Given the description of an element on the screen output the (x, y) to click on. 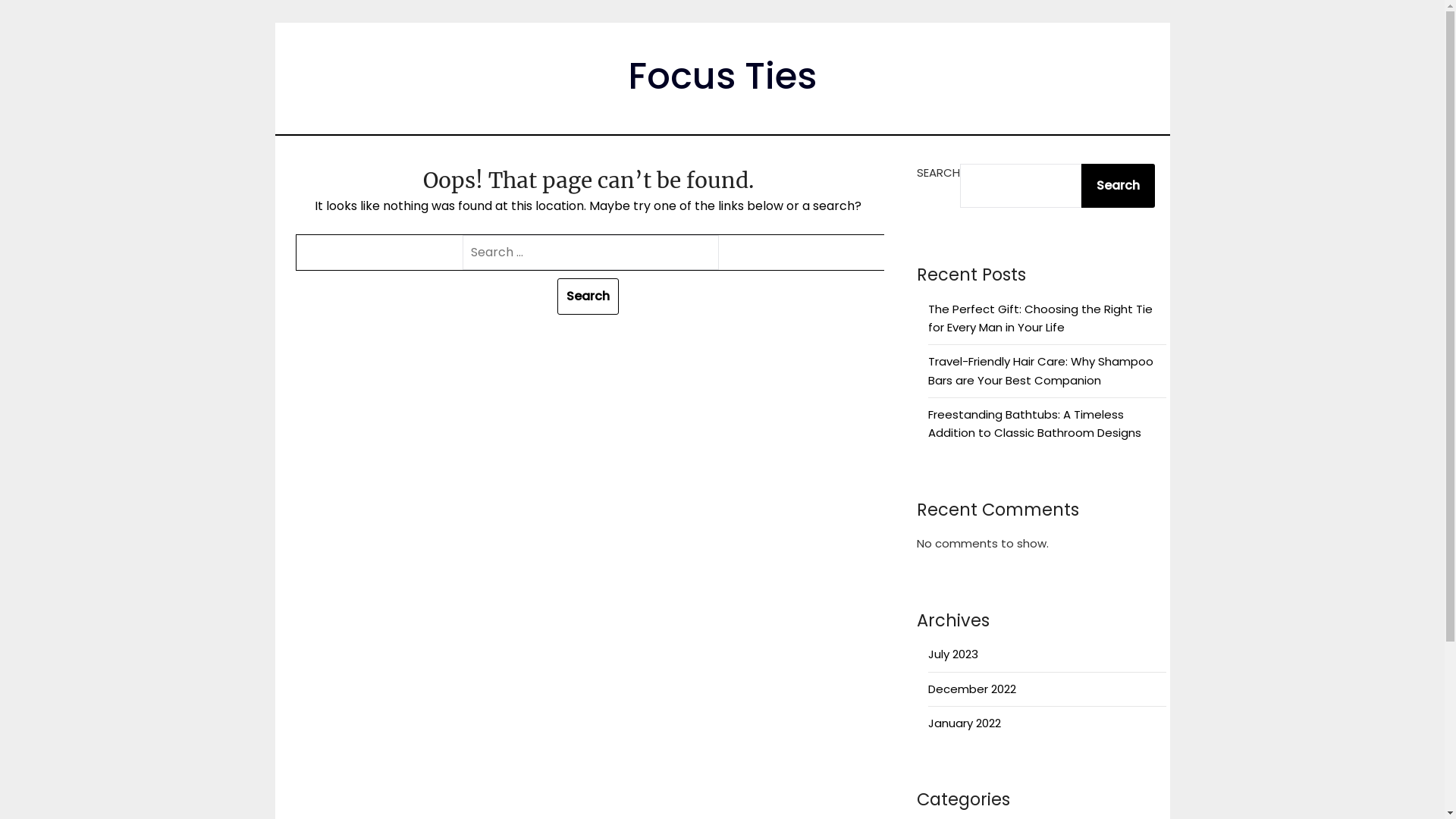
Focus Ties Element type: text (721, 75)
January 2022 Element type: text (964, 723)
December 2022 Element type: text (972, 688)
Search Element type: text (587, 296)
July 2023 Element type: text (953, 654)
Search Element type: text (1117, 185)
